Given the description of an element on the screen output the (x, y) to click on. 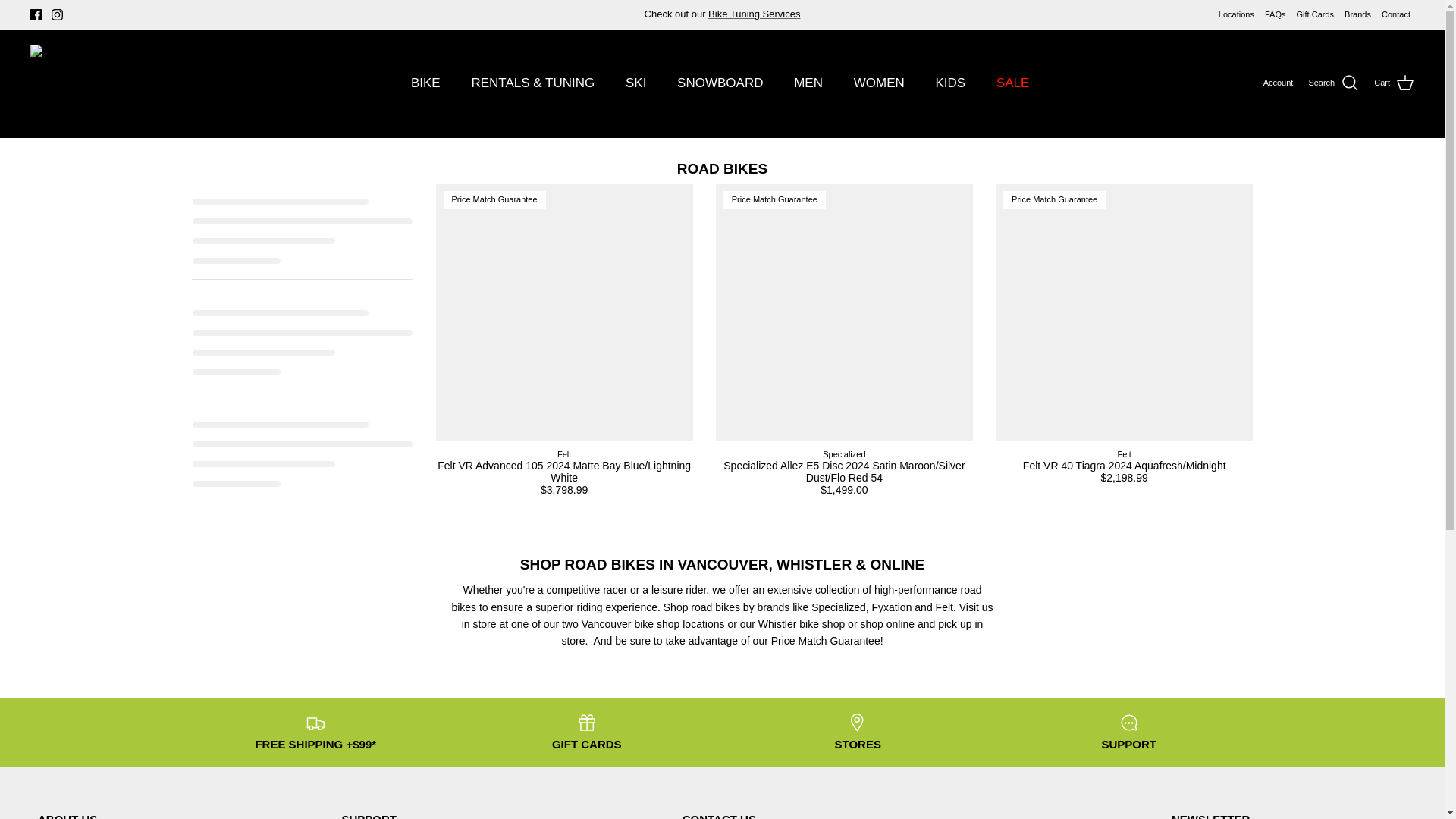
Bike Service Menu (753, 13)
Instagram (56, 14)
SALE (1012, 82)
Shop Specialized Road Bikes (838, 607)
SNOWBOARD (719, 82)
Facebook (36, 14)
Brands (1357, 14)
BIKE (425, 82)
Comor - Go Play Outside (130, 83)
Gift Cards (1316, 14)
